Given the description of an element on the screen output the (x, y) to click on. 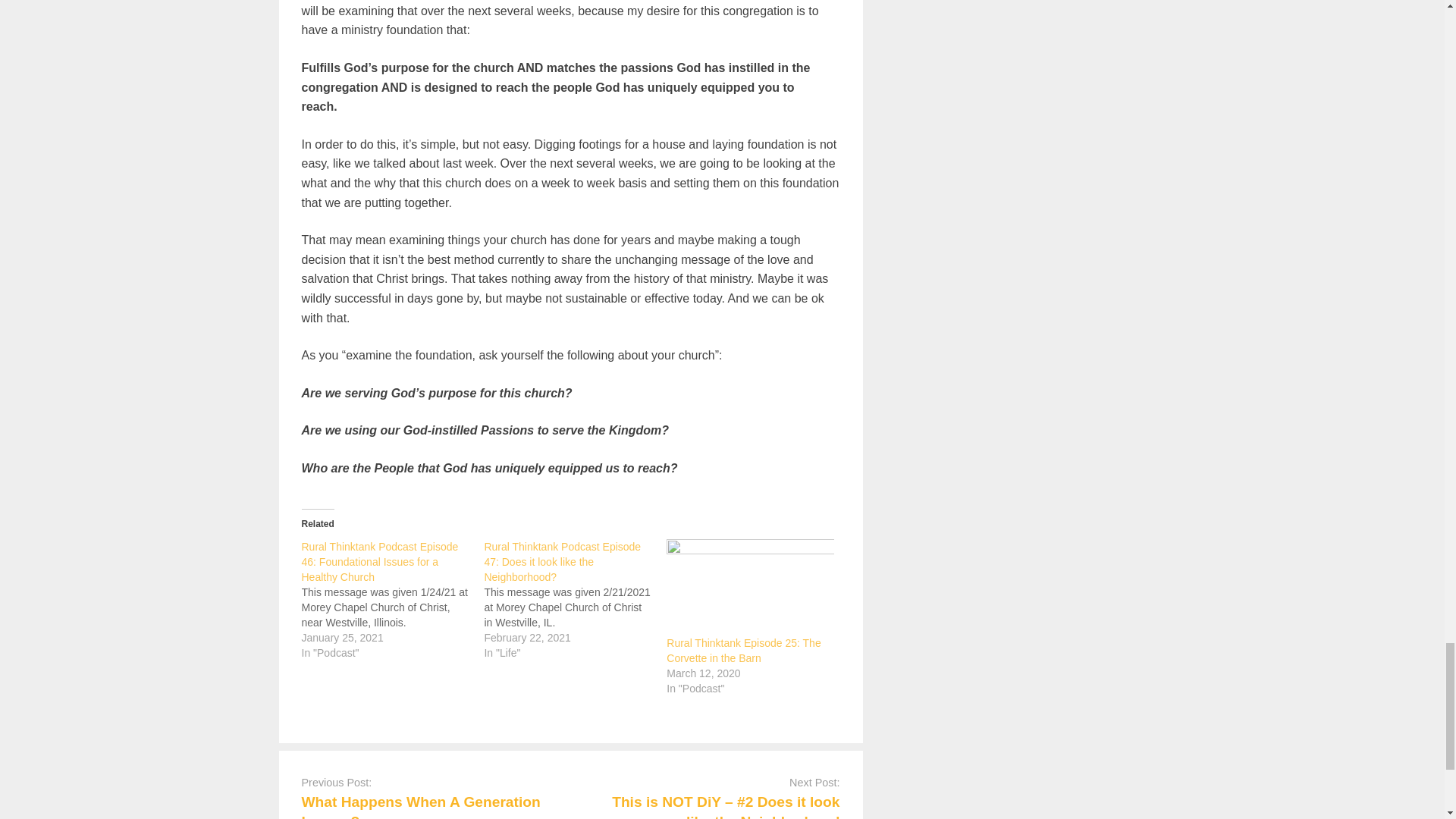
Rural Thinktank Episode 25: The Corvette in the Barn (743, 650)
Rural Thinktank Episode 25: The Corvette in the Barn (750, 586)
What Happens When A Generation Leaves? (420, 806)
Rural Thinktank Episode 25: The Corvette in the Barn (743, 650)
